Given the description of an element on the screen output the (x, y) to click on. 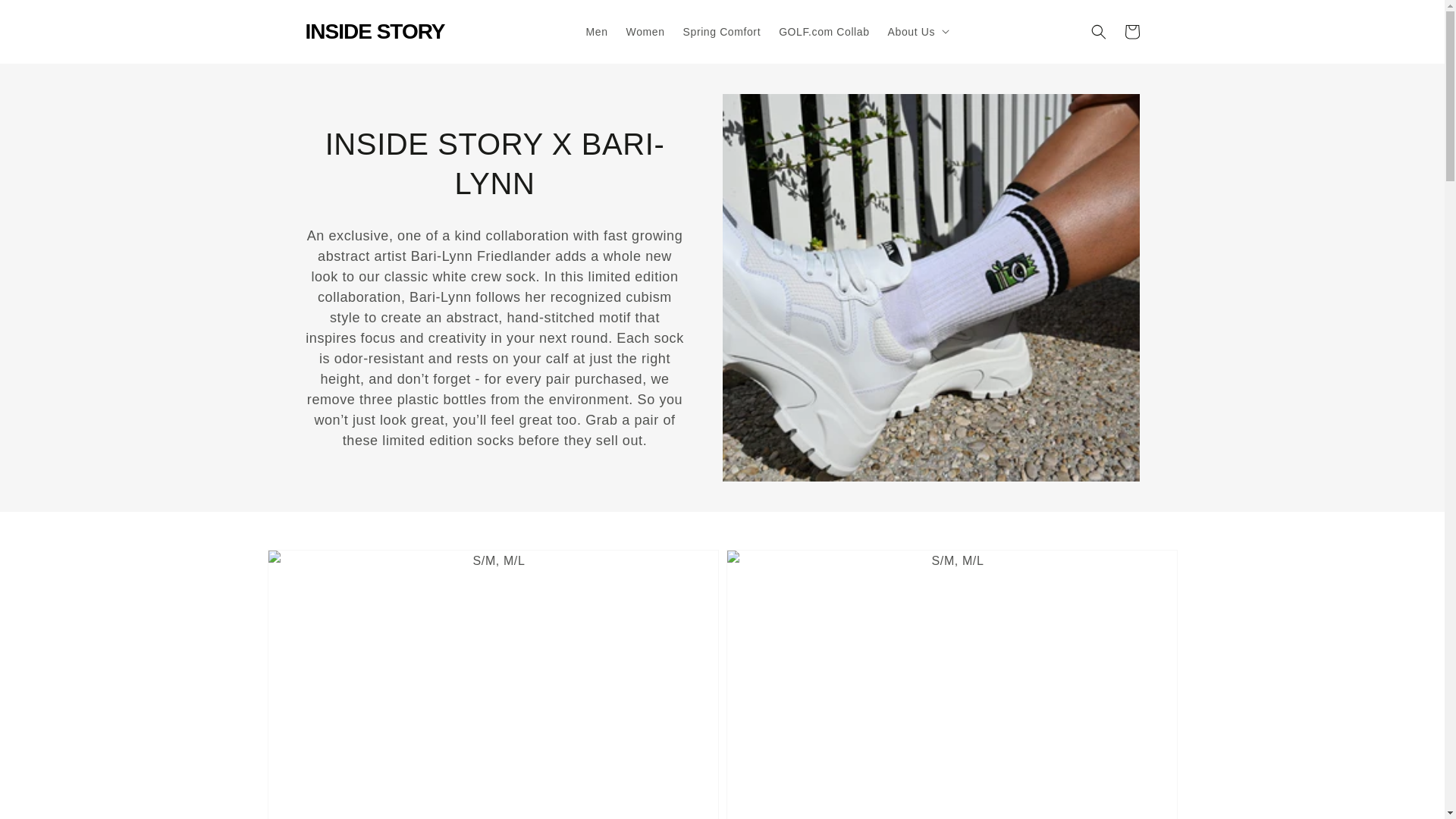
Cart (1131, 31)
Men (596, 31)
Women (645, 31)
INSIDE STORY (374, 31)
GOLF.com Collab (823, 31)
Spring Comfort (722, 31)
Skip to content (45, 16)
